Given the description of an element on the screen output the (x, y) to click on. 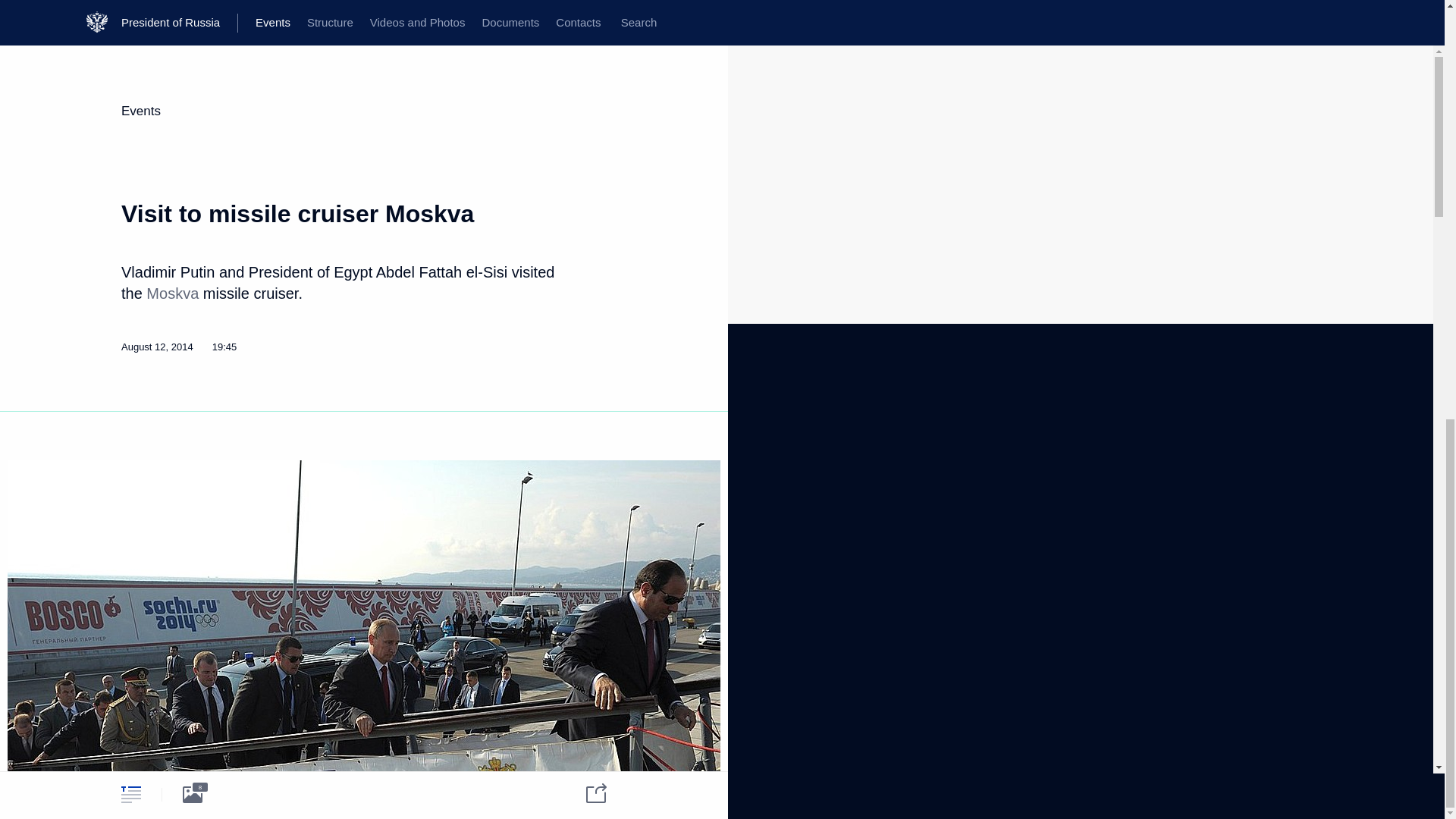
The Constitution of Russia (314, 472)
Telegram Channel (434, 455)
Structure (140, 460)
For the Media (151, 571)
Send a Letter (287, 510)
Contact website team (578, 510)
About website (561, 440)
State Insignia (287, 491)
Creative Commons Attribution 4.0 International (572, 758)
Directory (140, 625)
YouTube Channel (432, 474)
Videos and Photos (161, 478)
Version for People with Disabilities (171, 668)
Search (317, 447)
